Given the description of an element on the screen output the (x, y) to click on. 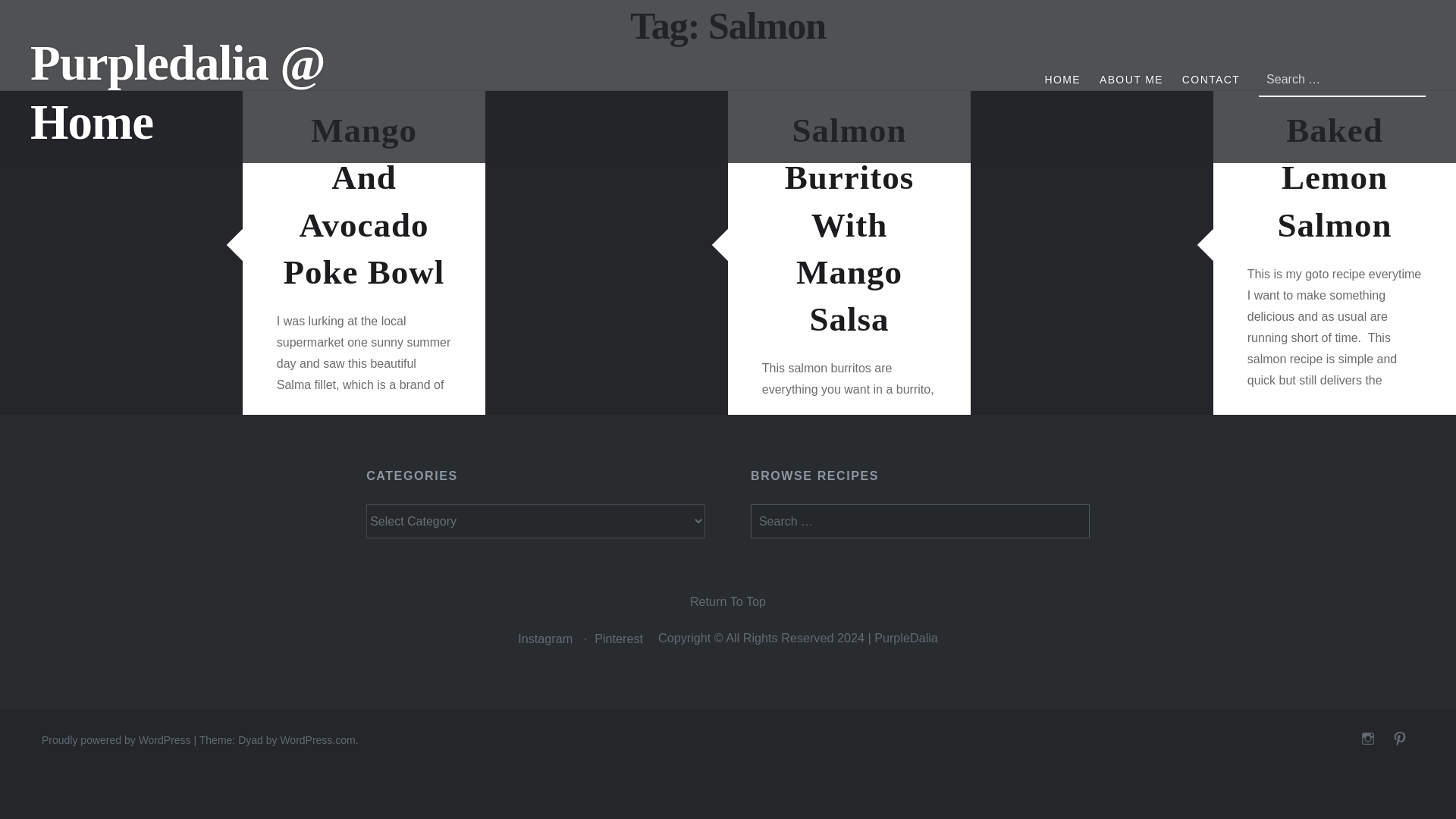
WordPress.com (317, 739)
ABOUT ME (1131, 79)
Pinterest (618, 638)
Search (582, 19)
Search (35, 18)
Instagram (1367, 739)
Instagram (545, 638)
Mango And Avocado Poke Bowl (364, 200)
Proudly powered by WordPress (116, 739)
HOME (1061, 79)
